Given the description of an element on the screen output the (x, y) to click on. 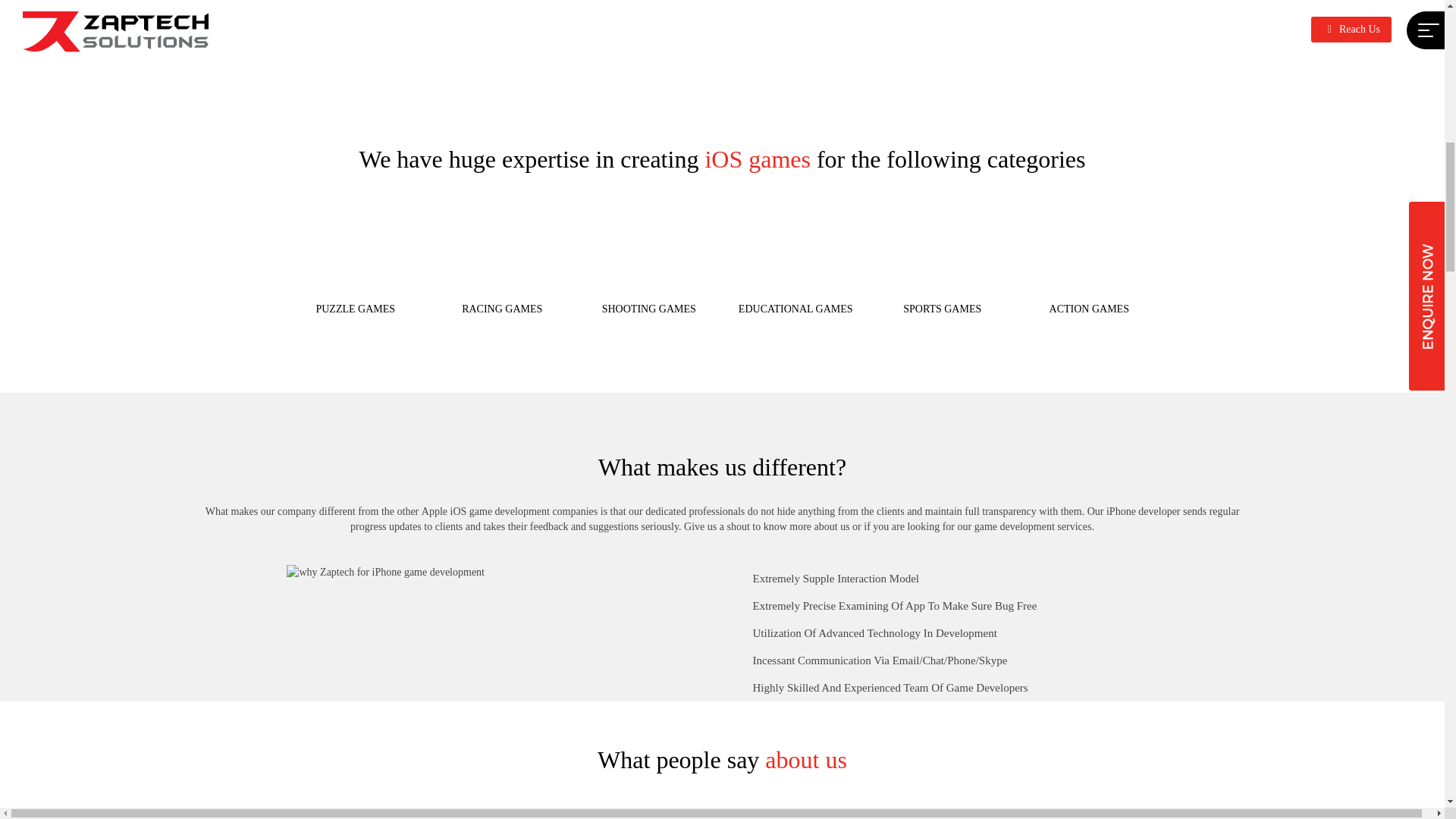
iPhone app development company (1004, 8)
iPhone developer (1143, 511)
Cocos2D (450, 8)
